Given the description of an element on the screen output the (x, y) to click on. 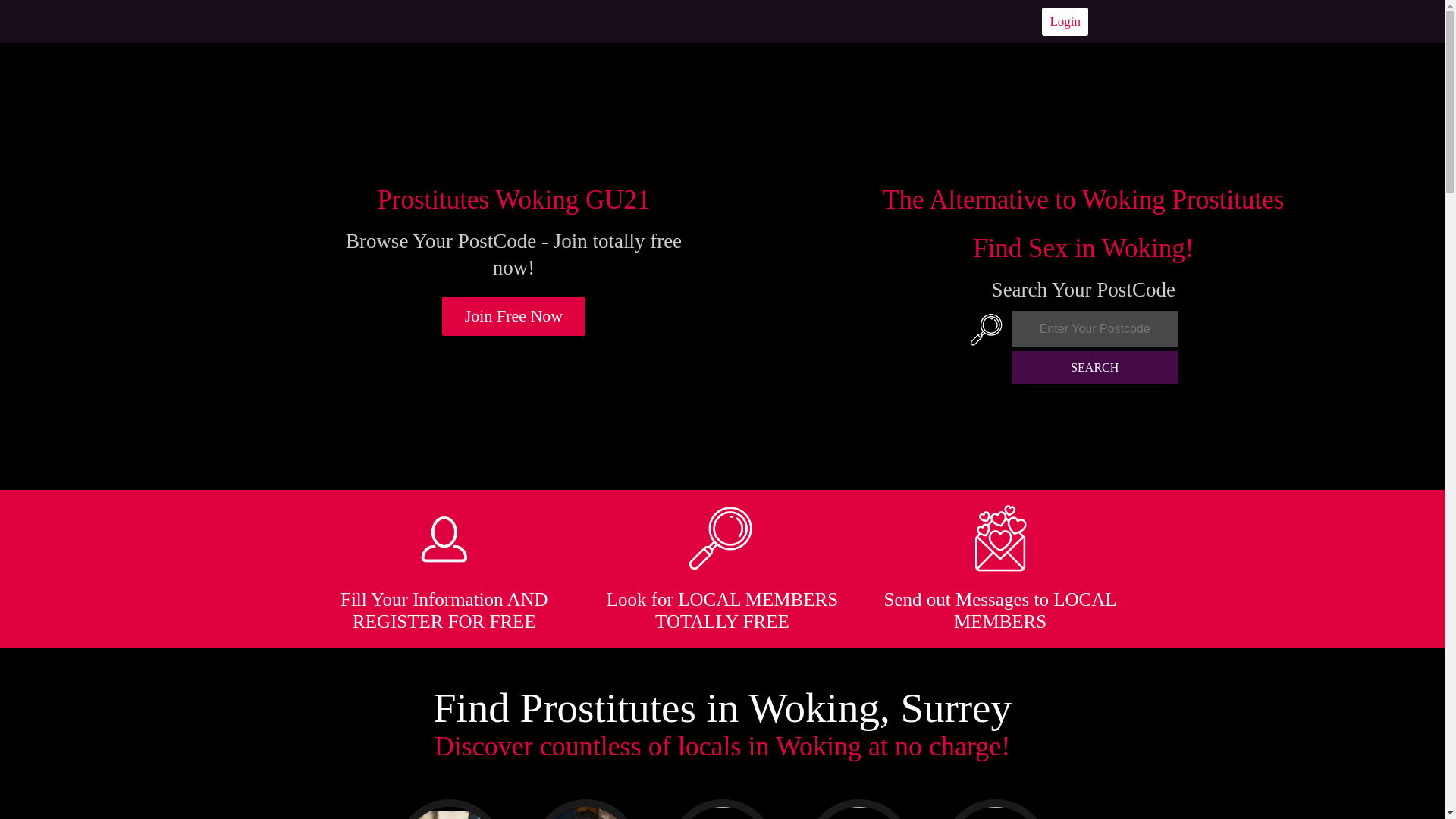
SEARCH (1094, 367)
Login (1064, 21)
Join Free Now (514, 315)
Login (1064, 21)
Join (514, 315)
